Given the description of an element on the screen output the (x, y) to click on. 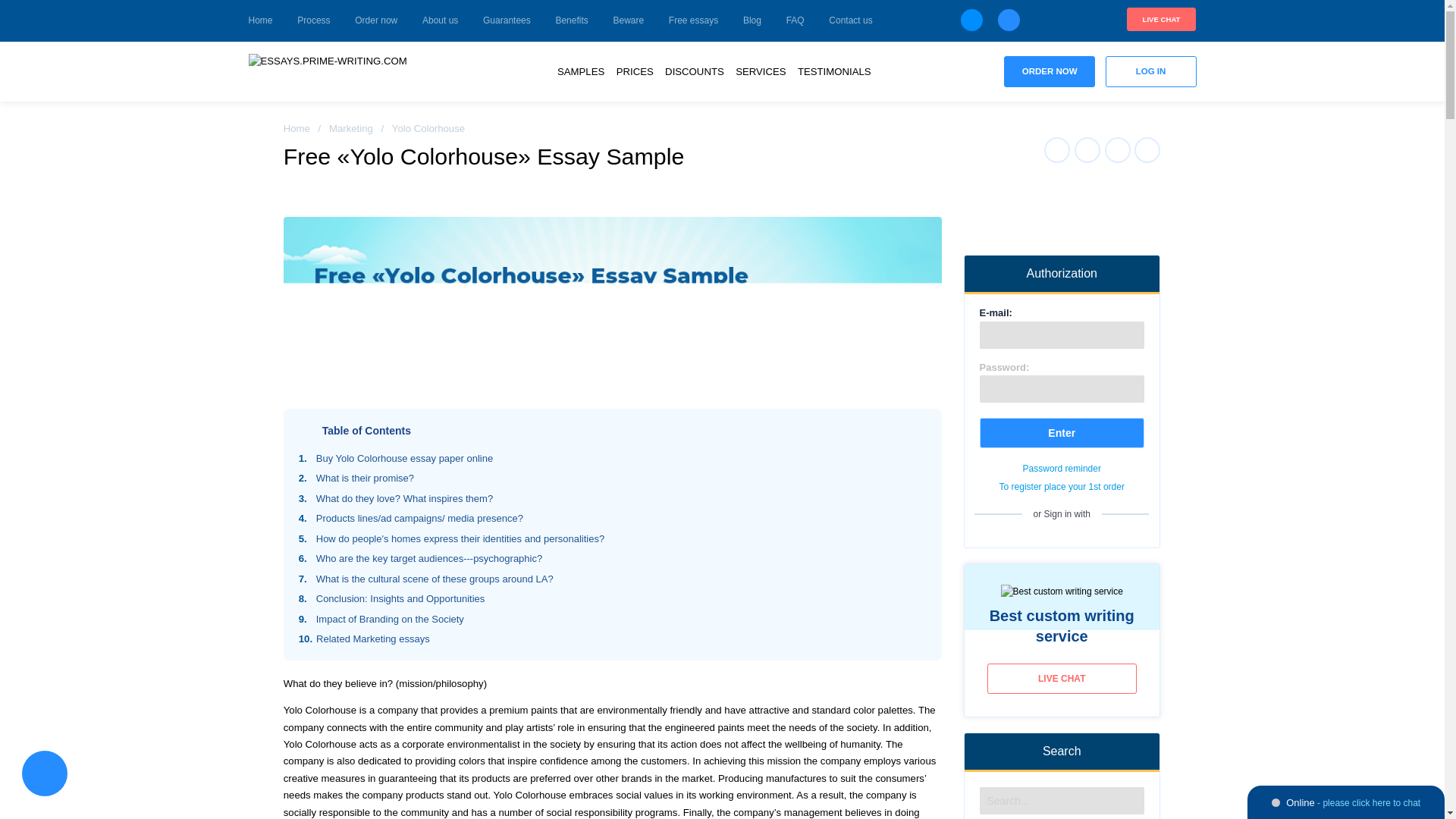
Enter (1061, 432)
About us (440, 20)
Marketing (350, 128)
DISCOUNTS (694, 71)
LOG IN (1150, 71)
PRICES (634, 71)
Home (296, 128)
TESTIMONIALS (834, 71)
essays.prime-writing.com (335, 72)
SAMPLES (580, 71)
Process (313, 20)
Yolo Colorhouse (612, 301)
Blog (751, 20)
Home (260, 20)
SERVICES (760, 71)
